Given the description of an element on the screen output the (x, y) to click on. 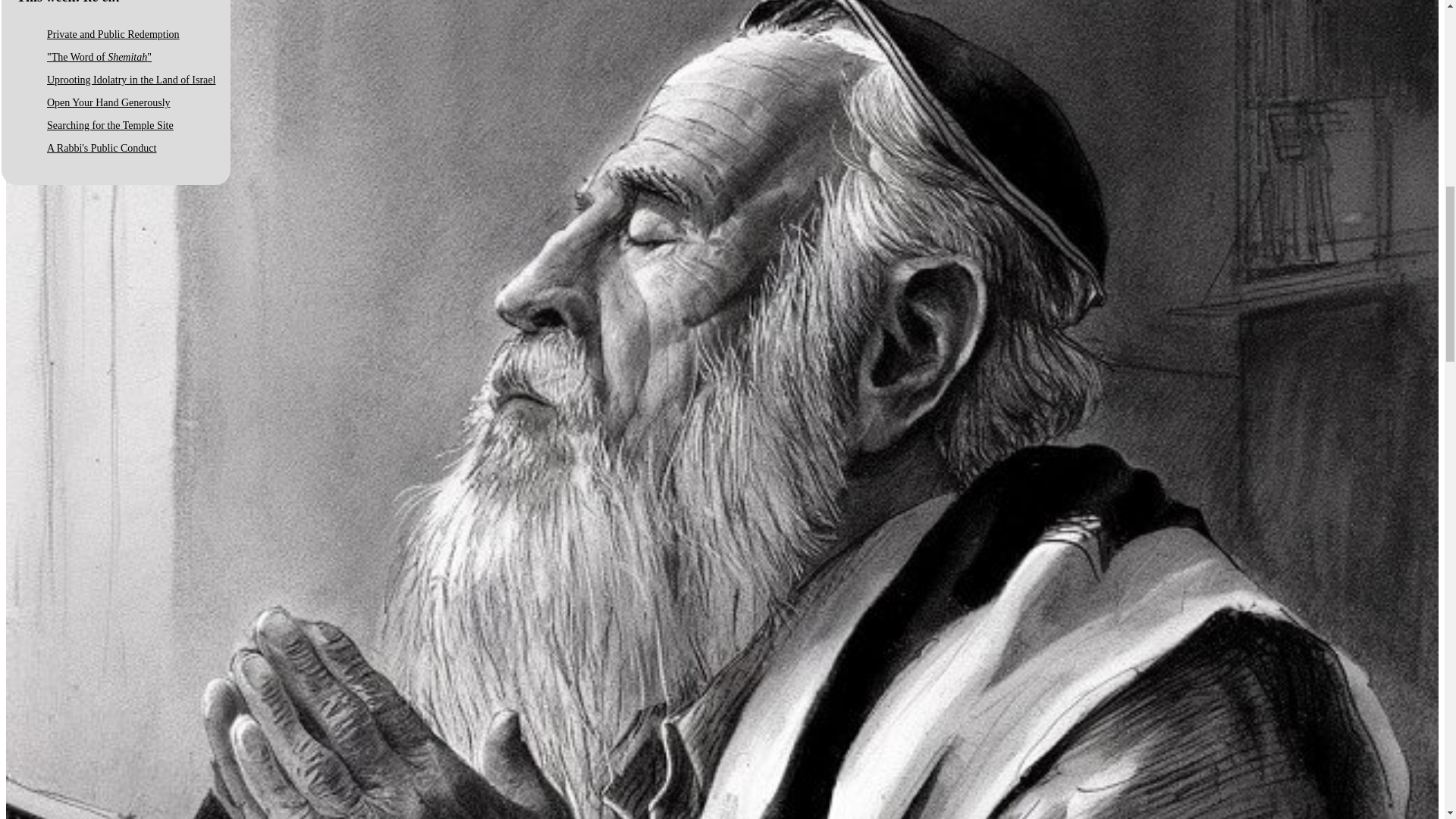
Uprooting Idolatry in the Land of Israel (130, 79)
A Rabbi's Public Conduct (100, 147)
Open Your Hand Generously (108, 102)
"The Word of Shemitah" (98, 57)
Private and Public Redemption (112, 34)
Searching for the Temple Site (109, 125)
